Given the description of an element on the screen output the (x, y) to click on. 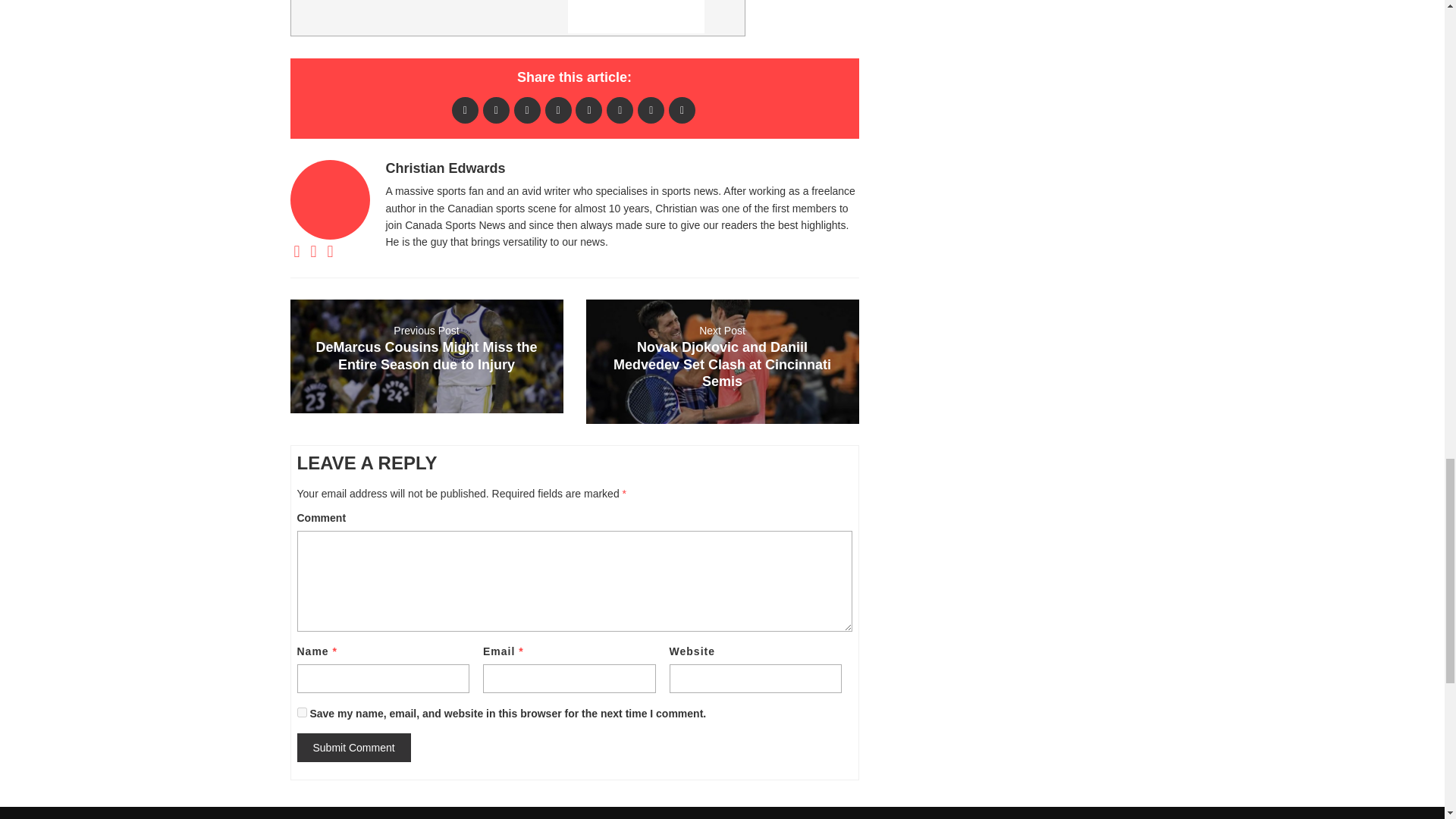
Posts by Christian Edwards (445, 168)
Christian Edwards (445, 168)
yes (302, 712)
